Given the description of an element on the screen output the (x, y) to click on. 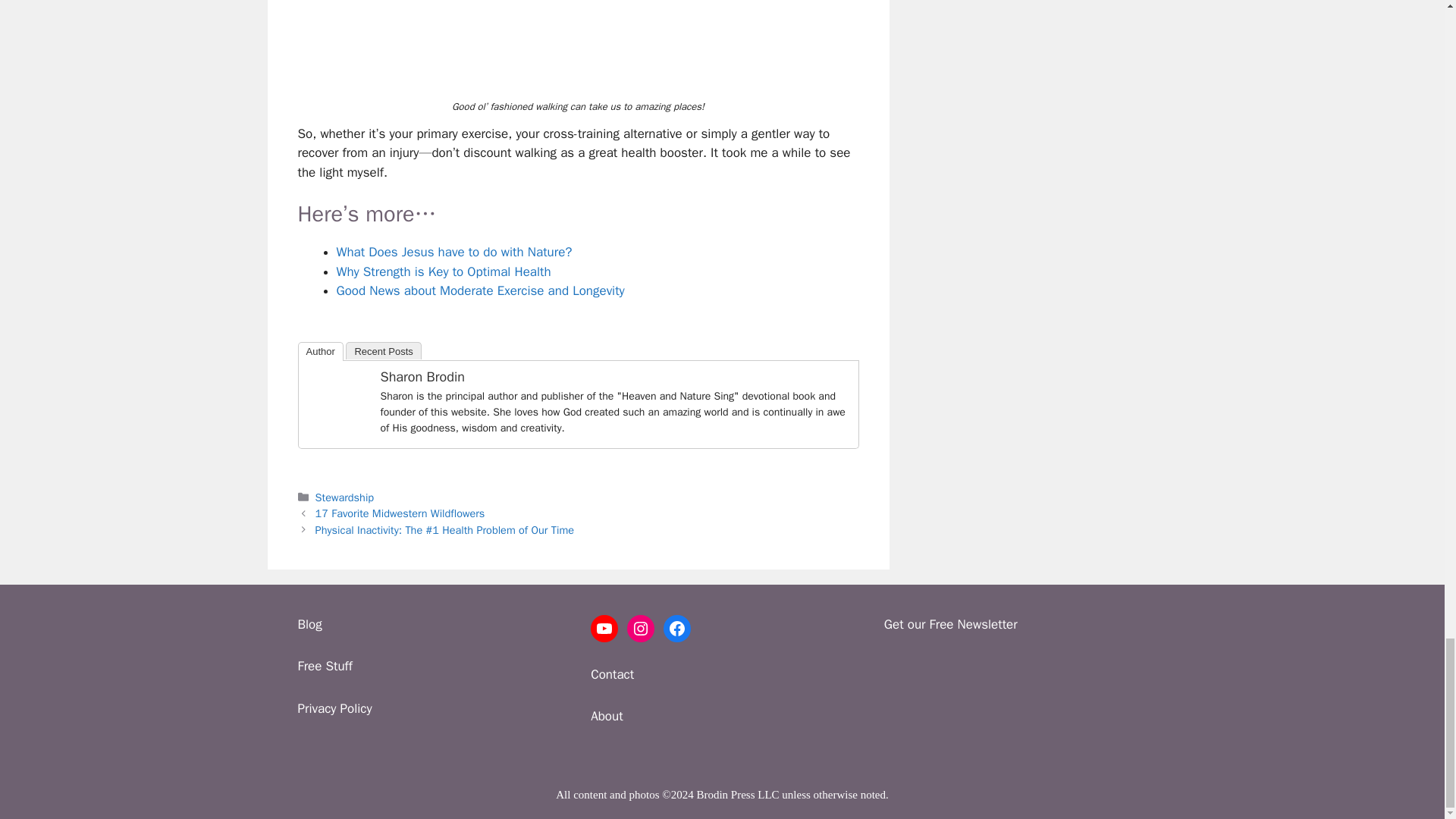
Good News about Moderate Exercise and Longevity (480, 290)
Sharon Brodin (337, 426)
Recent Posts (383, 350)
Stewardship (344, 497)
Sharon Brodin (422, 376)
Author (319, 351)
Why Strength is Key to Optimal Health (443, 271)
What Does Jesus have to do with Nature? (454, 252)
17 Favorite Midwestern Wildflowers (399, 513)
